Given the description of an element on the screen output the (x, y) to click on. 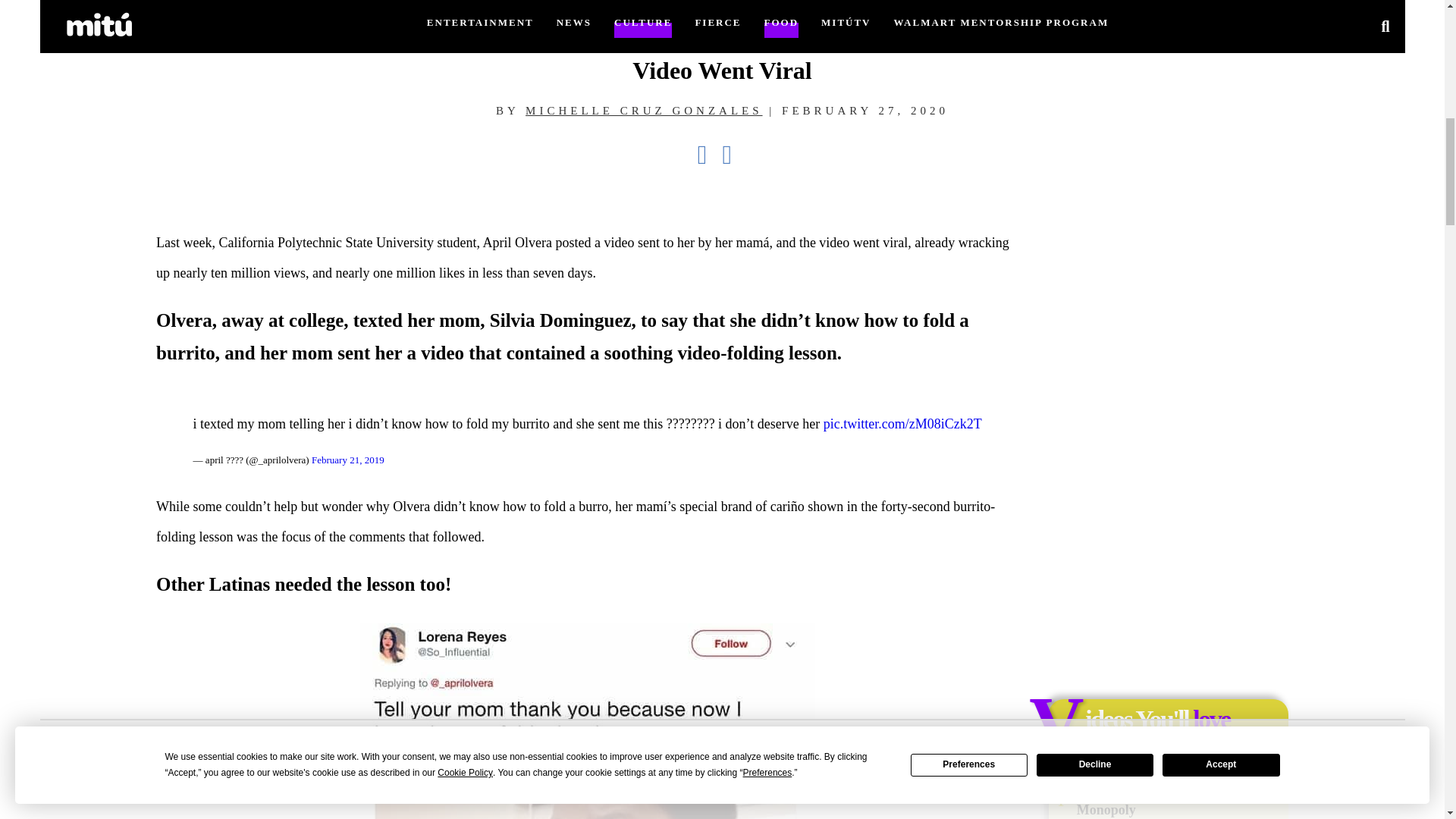
MICHELLE CRUZ GONZALES (643, 110)
February 21, 2019 (347, 460)
DOJ Sues Apple for Smartphone Monopoly (1180, 798)
Share on Facebook (709, 154)
Share via Email (734, 154)
Posts by Michelle Cruz Gonzales (643, 110)
